Given the description of an element on the screen output the (x, y) to click on. 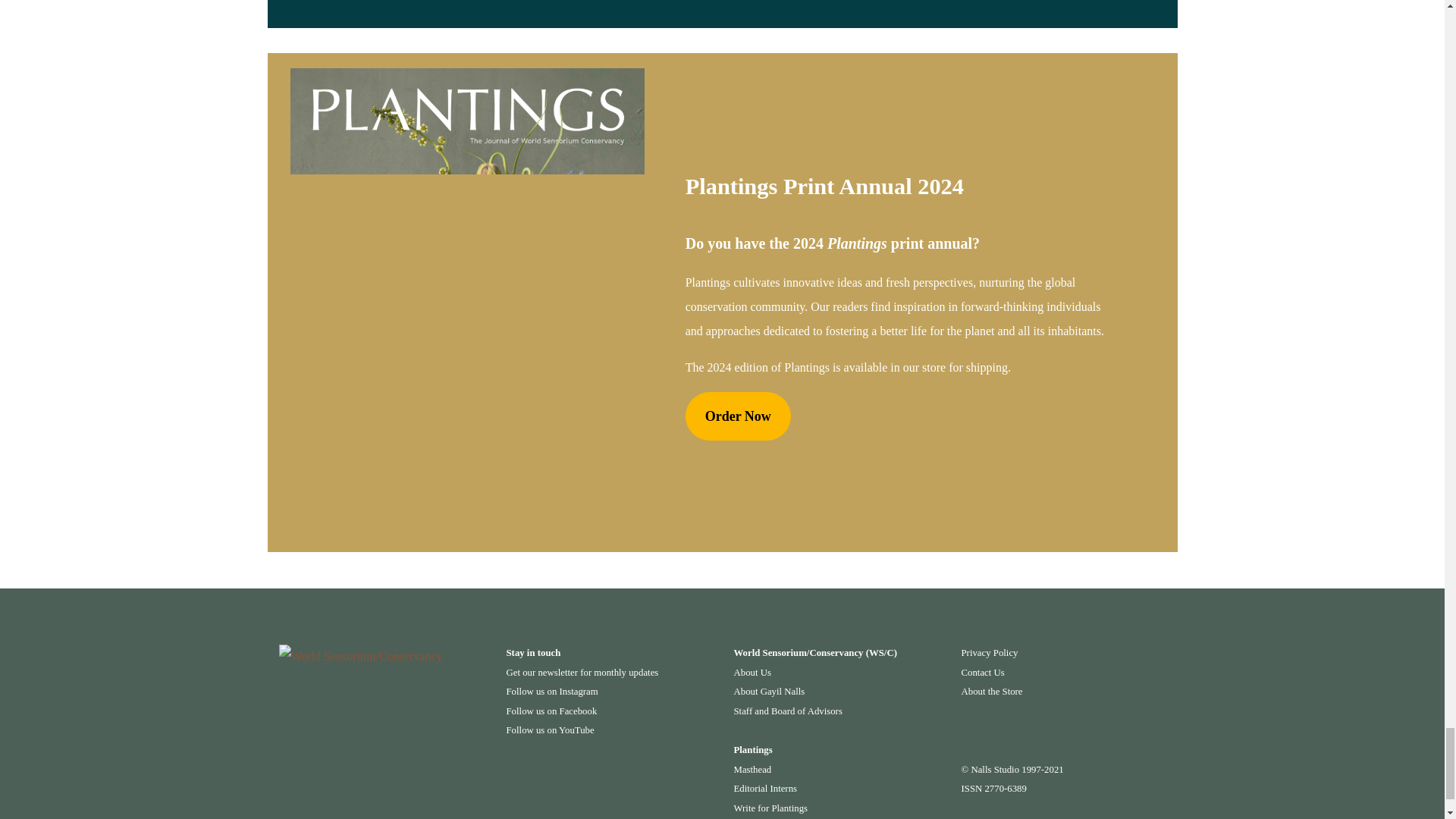
Order Now (737, 416)
